Given the description of an element on the screen output the (x, y) to click on. 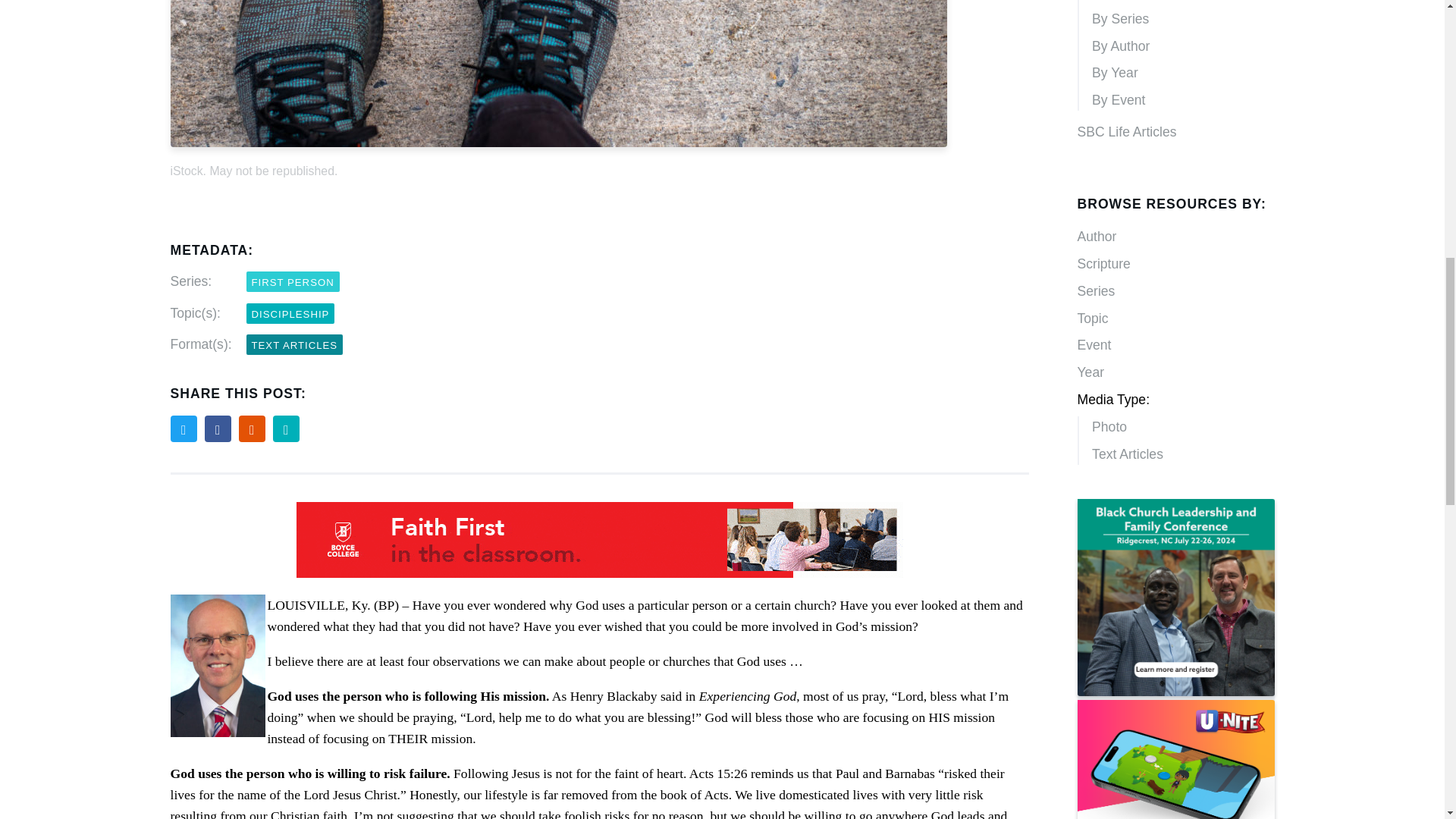
DISCIPLESHIP (290, 313)
FIRST PERSON (292, 281)
TEXT ARTICLES (294, 344)
